Given the description of an element on the screen output the (x, y) to click on. 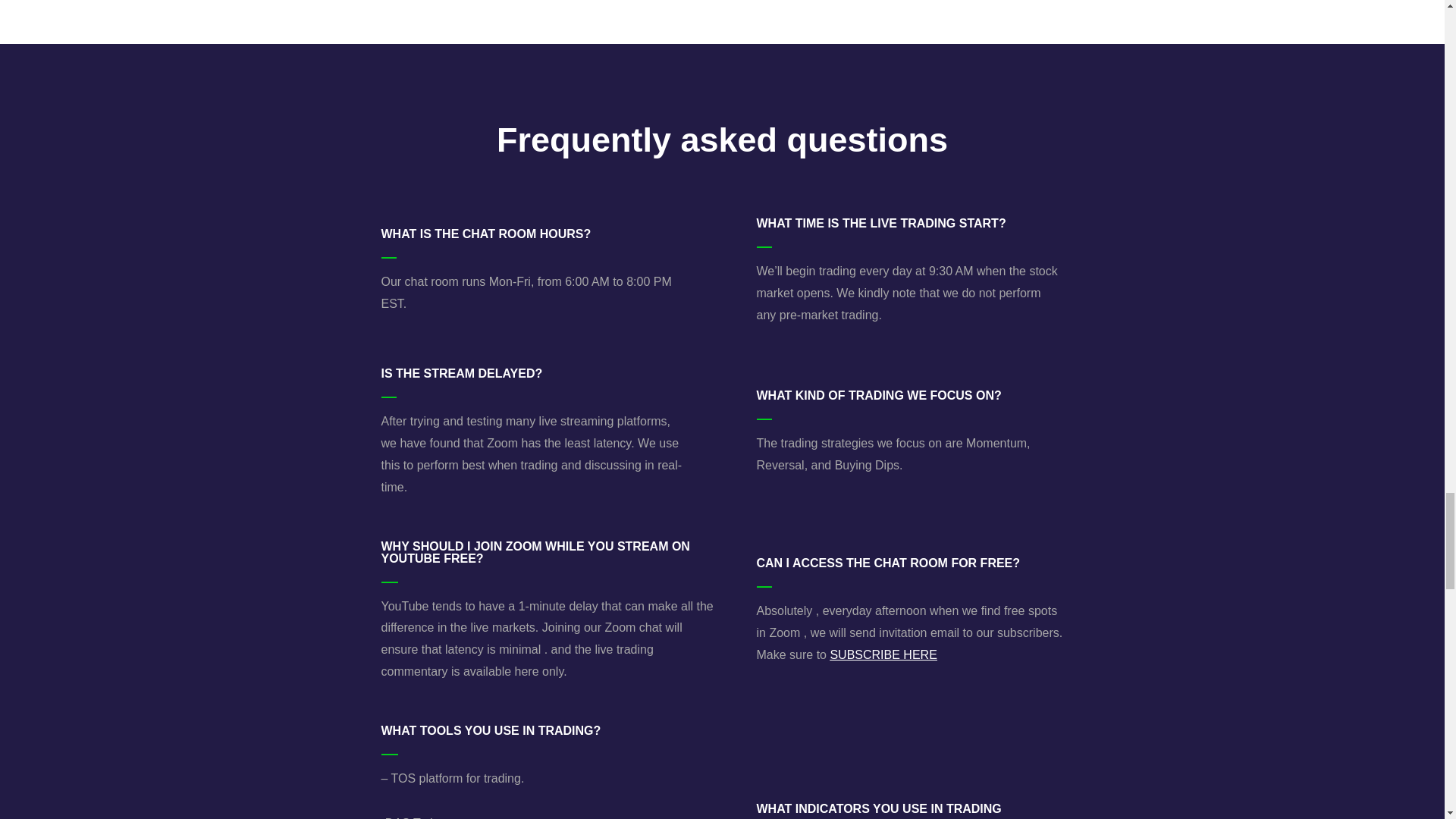
SUBSCRIBE HERE (882, 654)
